Given the description of an element on the screen output the (x, y) to click on. 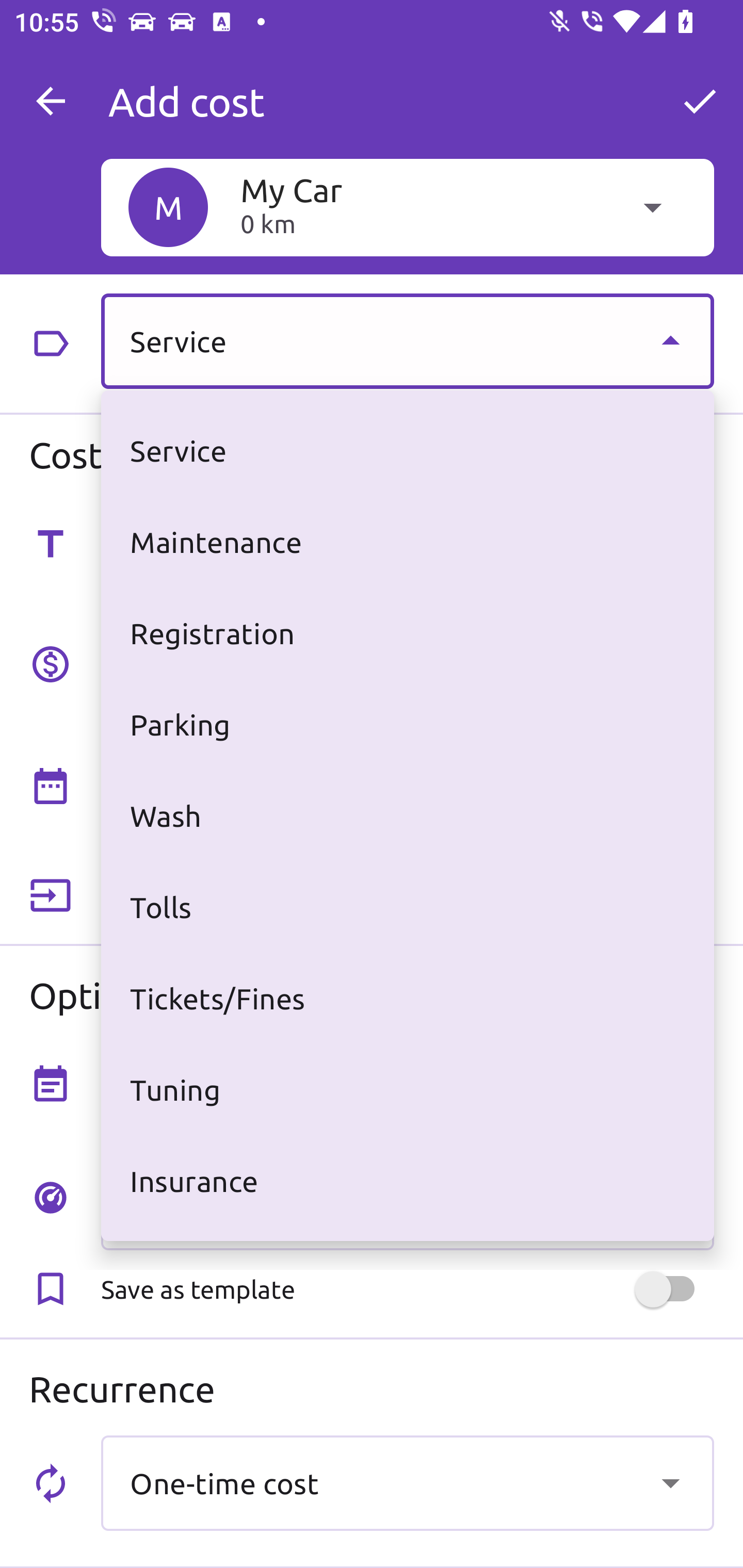
Navigate up (50, 101)
OK (699, 101)
M My Car 0 km (407, 206)
Service (407, 340)
Show dropdown menu (670, 340)
Title (407, 541)
Templates (670, 541)
Total cost  (407, 662)
2024-03-07 (236, 790)
10:55 PM (549, 790)
Negative cost (income) (407, 895)
Note (407, 1082)
Odometer (407, 1202)
Save as template (407, 1289)
One-time cost (407, 1482)
Show dropdown menu (670, 1482)
